Given the description of an element on the screen output the (x, y) to click on. 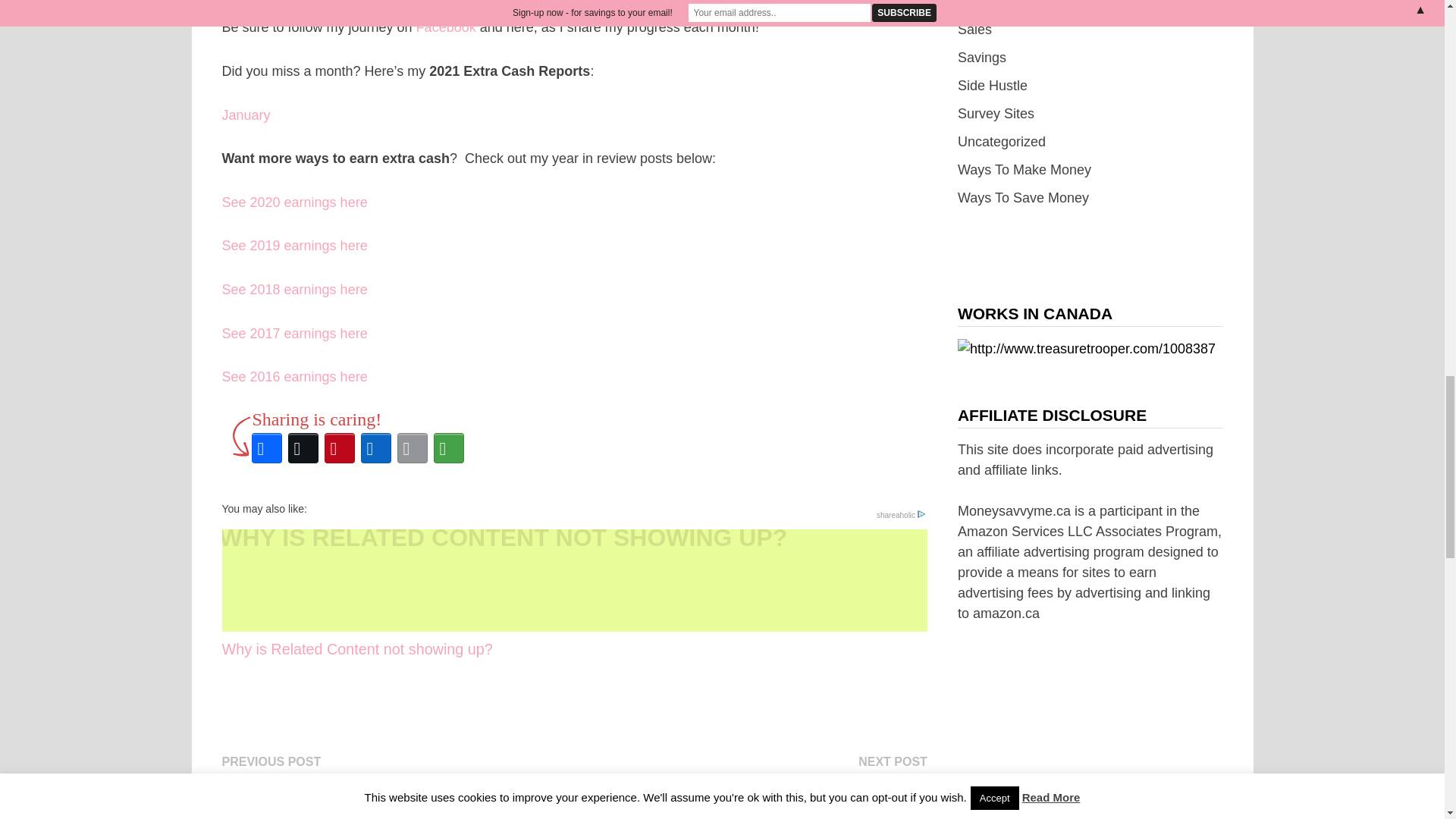
LinkedIn (376, 447)
Why is Related Content not showing up? (573, 594)
Email This (412, 447)
Website Tools by Shareaholic (900, 515)
Facebook (266, 447)
Pinterest (339, 447)
More Options (448, 447)
